Given the description of an element on the screen output the (x, y) to click on. 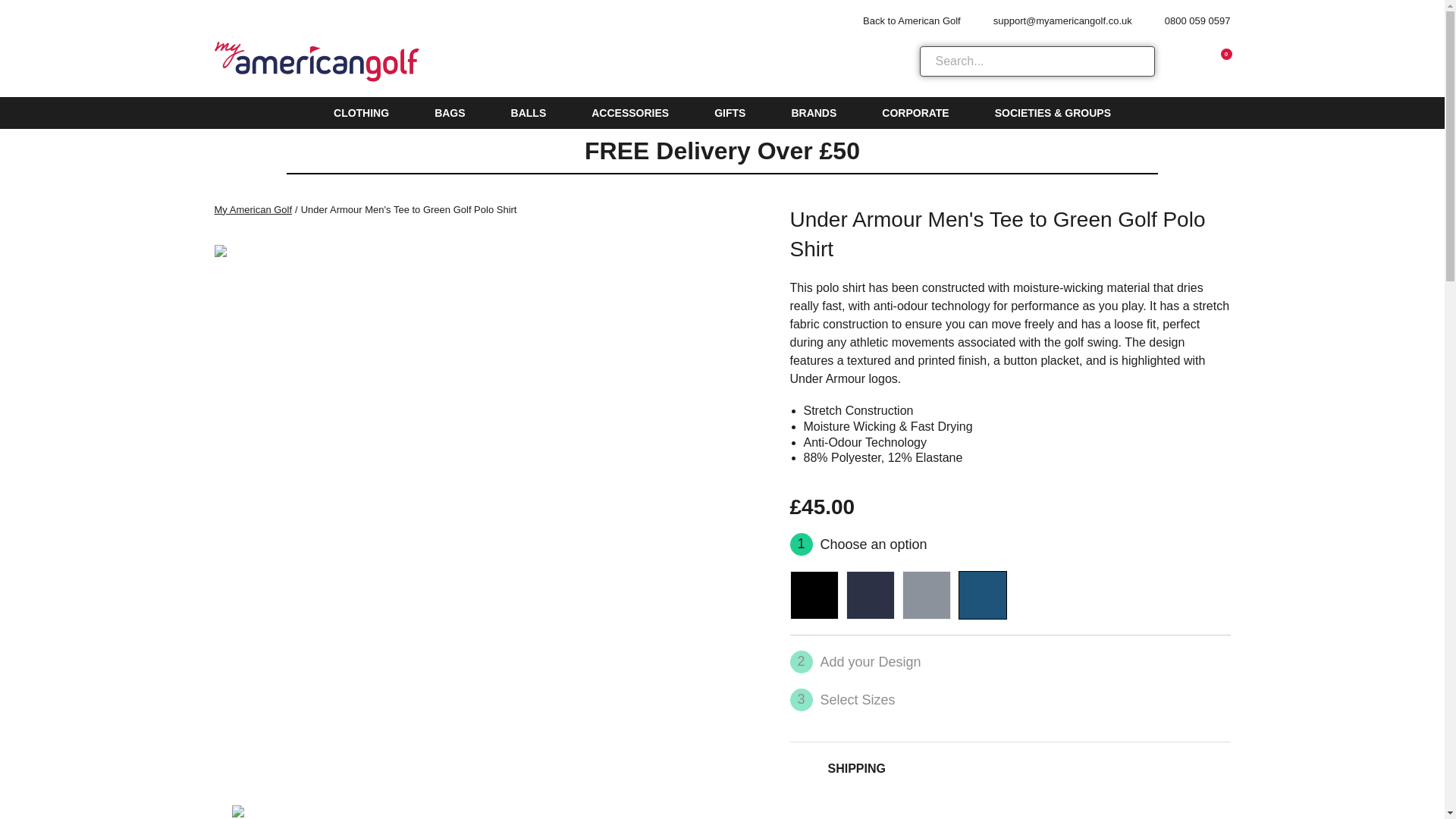
GIFTS (729, 112)
ACCESSORIES (629, 112)
0800 059 0597 (1188, 20)
NAVY (870, 594)
BAGS (448, 112)
BLACK (814, 594)
STEEL (926, 594)
BALLS (529, 112)
0 (1218, 60)
CLOTHING (360, 112)
SHIPPING (1010, 768)
My American Golf (256, 209)
Back to American Golf (902, 20)
next (752, 812)
prev (221, 812)
